Given the description of an element on the screen output the (x, y) to click on. 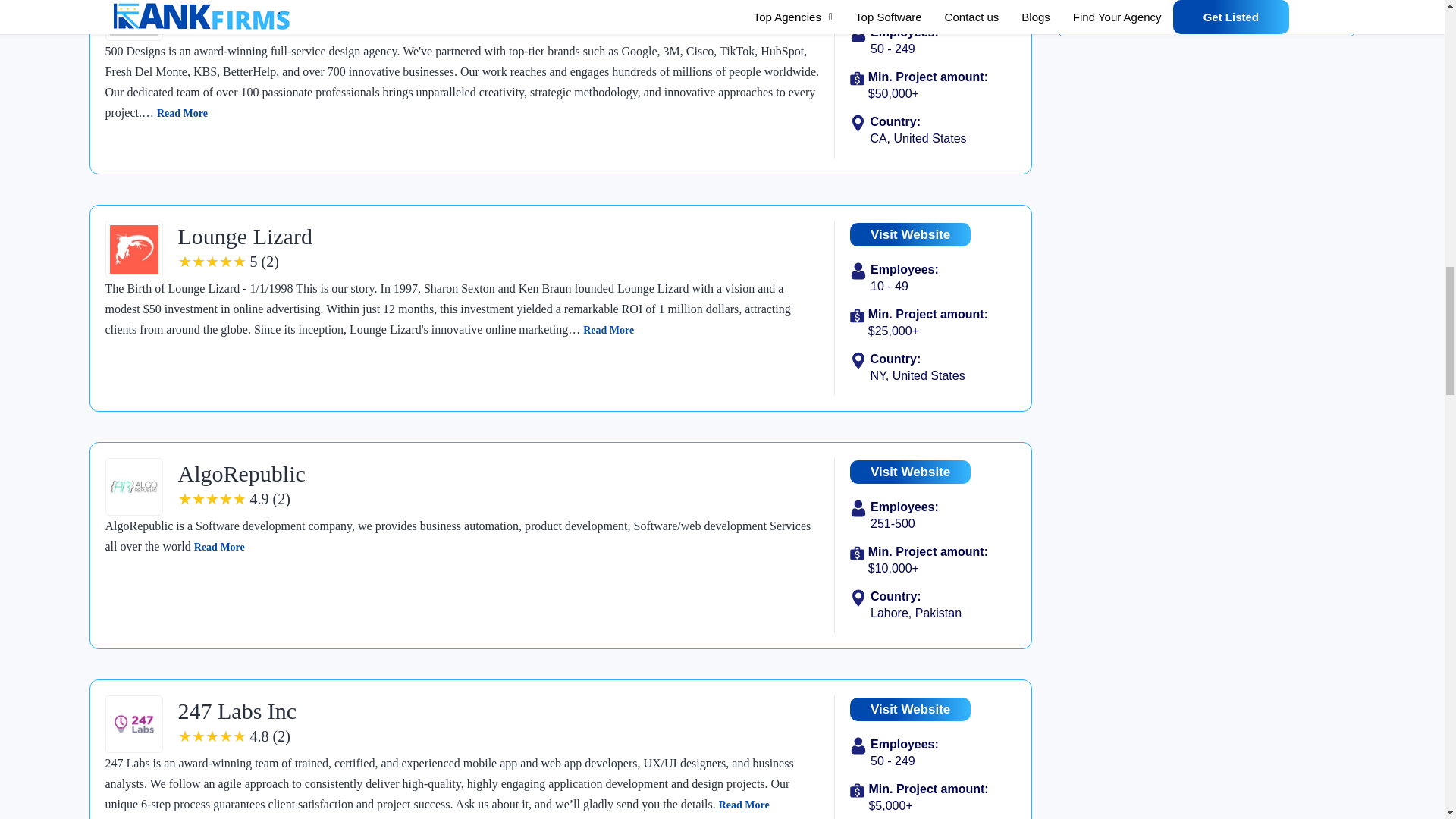
Visit Website (910, 4)
AlgoRepublic (240, 473)
Visit Website (910, 234)
Lounge Lizard (244, 235)
Read More (182, 112)
Read More (608, 329)
500 Designs (233, 5)
